Given the description of an element on the screen output the (x, y) to click on. 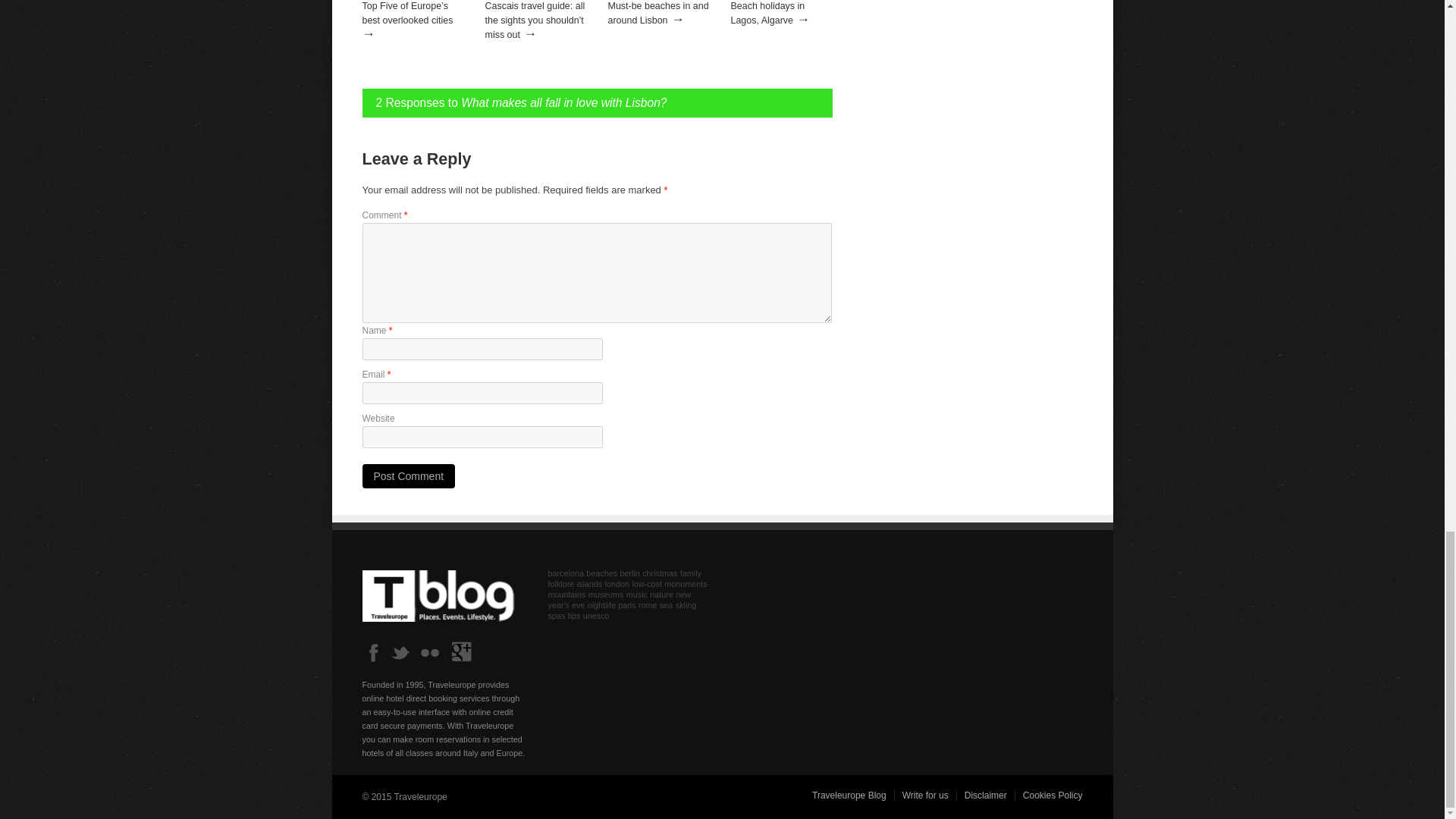
Beach holidays in Lagos, Algarve (767, 12)
Beach holidays in Lagos, Algarve (767, 12)
Must-be beaches in and around Lisbon (658, 12)
Must-be beaches in and around Lisbon (658, 12)
Post Comment (408, 476)
Post Comment (408, 476)
